Given the description of an element on the screen output the (x, y) to click on. 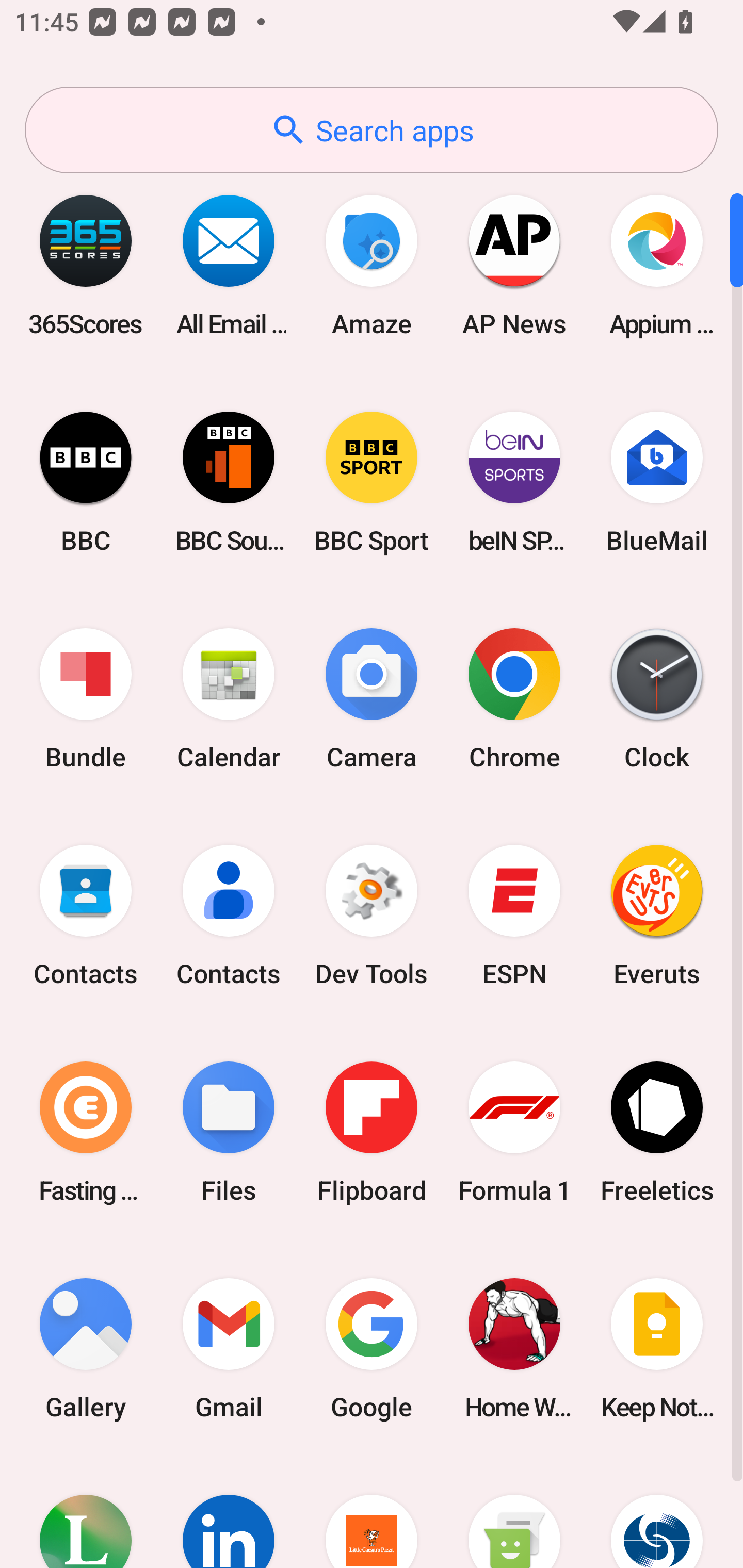
  Search apps (371, 130)
365Scores (85, 264)
All Email Connect (228, 264)
Amaze (371, 264)
AP News (514, 264)
Appium Settings (656, 264)
BBC (85, 482)
BBC Sounds (228, 482)
BBC Sport (371, 482)
beIN SPORTS (514, 482)
BlueMail (656, 482)
Bundle (85, 699)
Calendar (228, 699)
Camera (371, 699)
Chrome (514, 699)
Clock (656, 699)
Contacts (85, 915)
Contacts (228, 915)
Dev Tools (371, 915)
ESPN (514, 915)
Everuts (656, 915)
Fasting Coach (85, 1131)
Files (228, 1131)
Flipboard (371, 1131)
Formula 1 (514, 1131)
Freeletics (656, 1131)
Gallery (85, 1348)
Gmail (228, 1348)
Google (371, 1348)
Home Workout (514, 1348)
Keep Notes (656, 1348)
Lifesum (85, 1512)
LinkedIn (228, 1512)
Little Caesars Pizza (371, 1512)
Messaging (514, 1512)
MyObservatory (656, 1512)
